Given the description of an element on the screen output the (x, y) to click on. 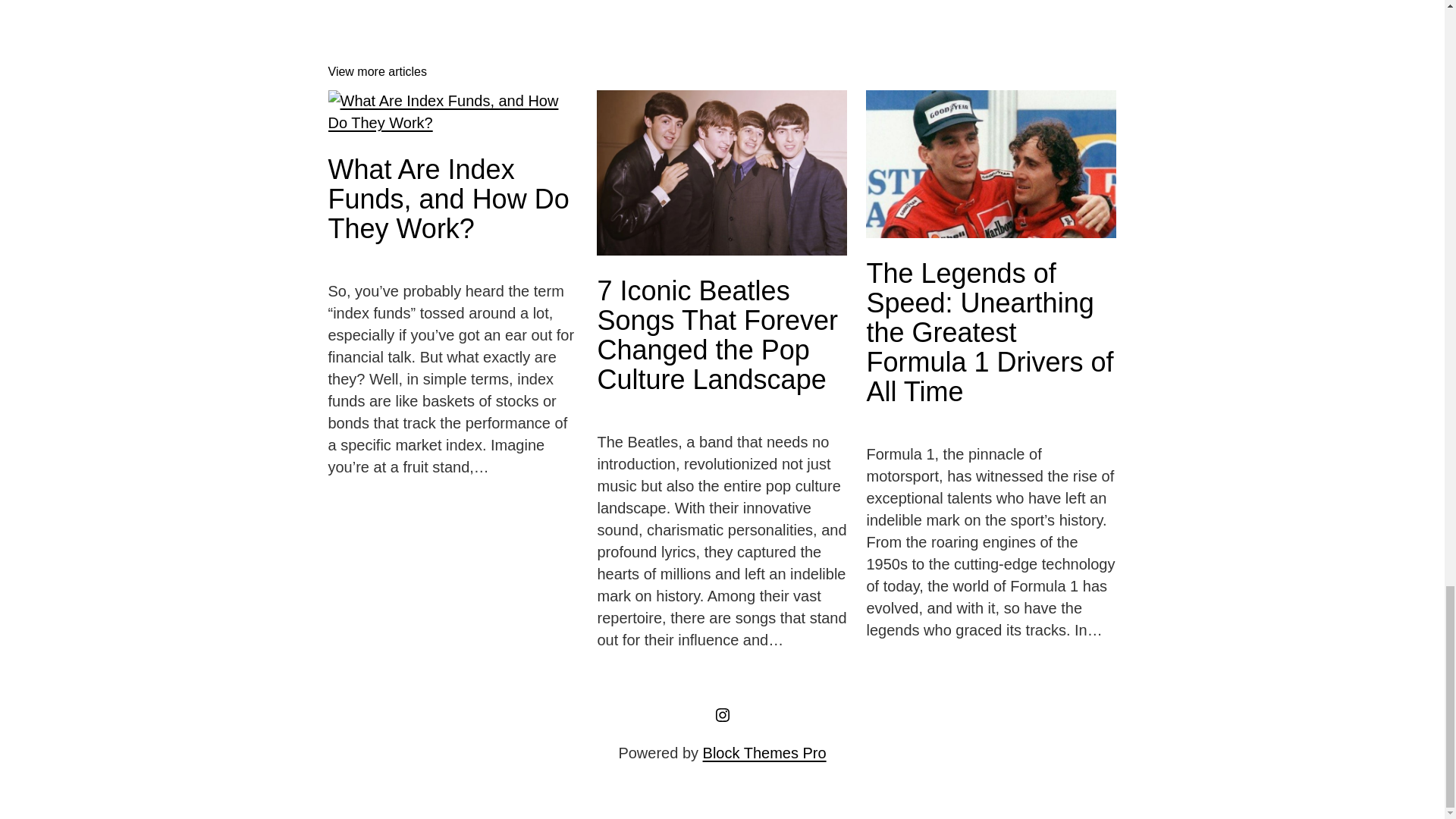
Block Themes Pro (765, 752)
Instagram (721, 714)
What Are Index Funds, and How Do They Work? (452, 199)
